Given the description of an element on the screen output the (x, y) to click on. 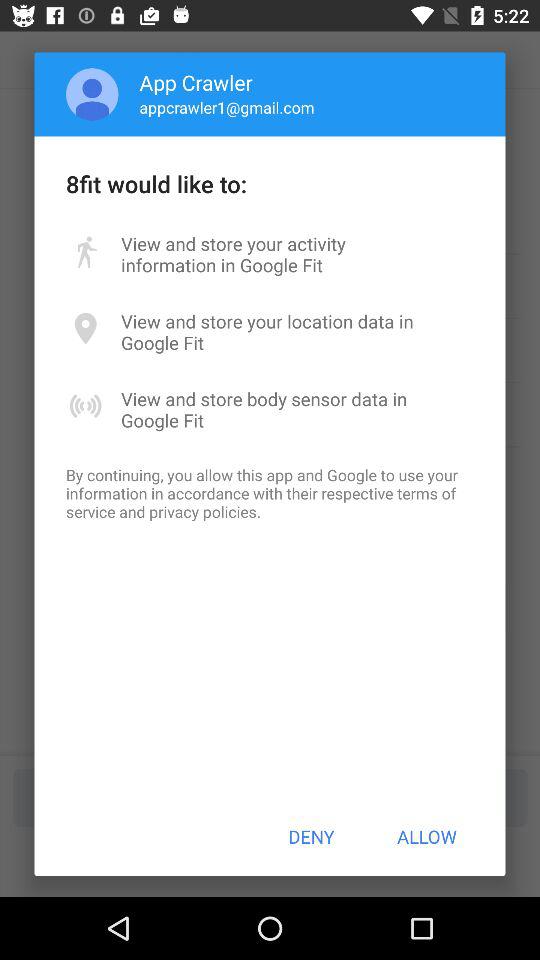
scroll until app crawler item (195, 82)
